Given the description of an element on the screen output the (x, y) to click on. 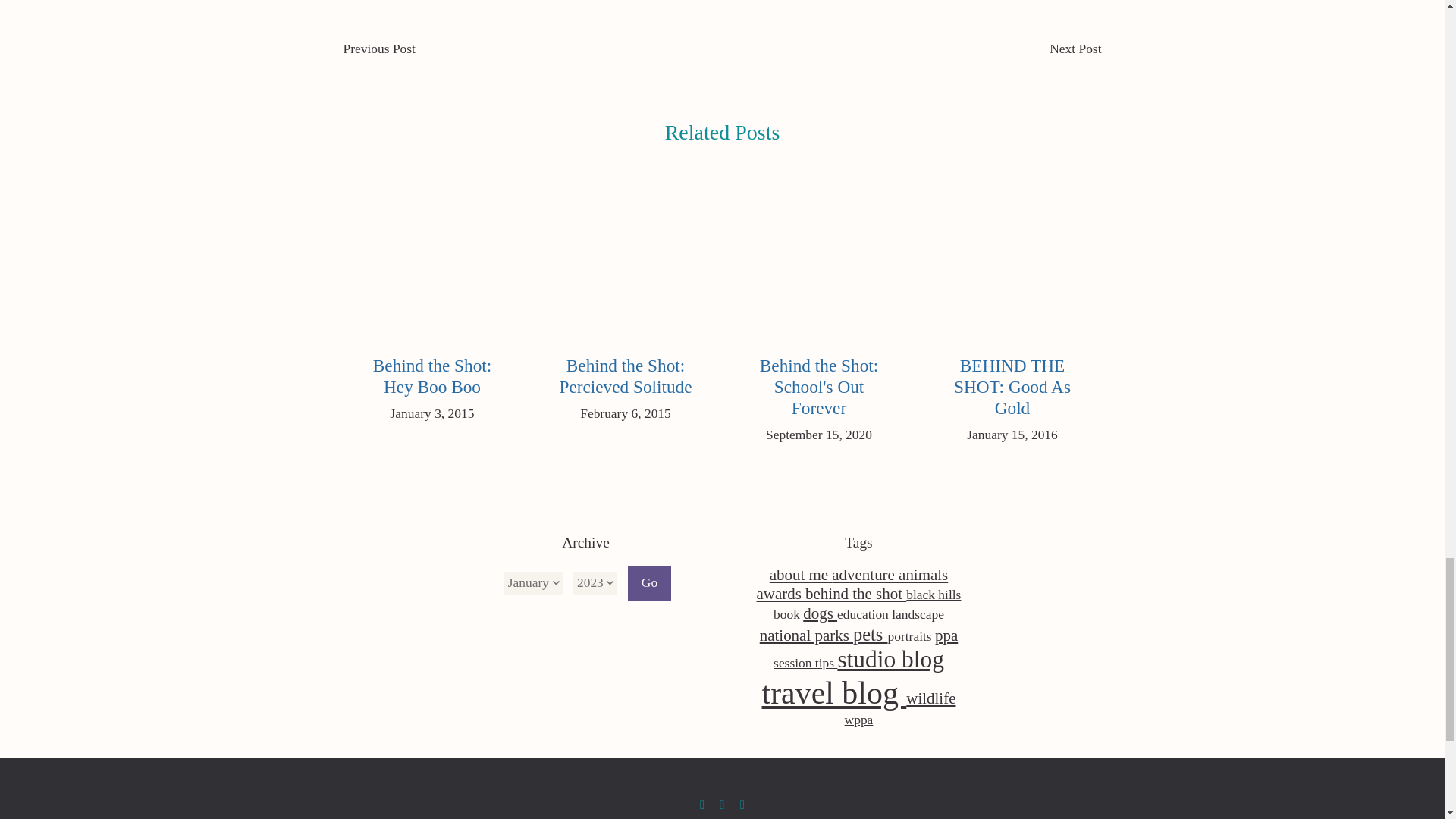
awards (781, 593)
behind the shot (855, 593)
Next Post (1074, 48)
about me (801, 574)
Go (648, 582)
adventure (864, 574)
animals (922, 574)
Previous Post (378, 48)
